Given the description of an element on the screen output the (x, y) to click on. 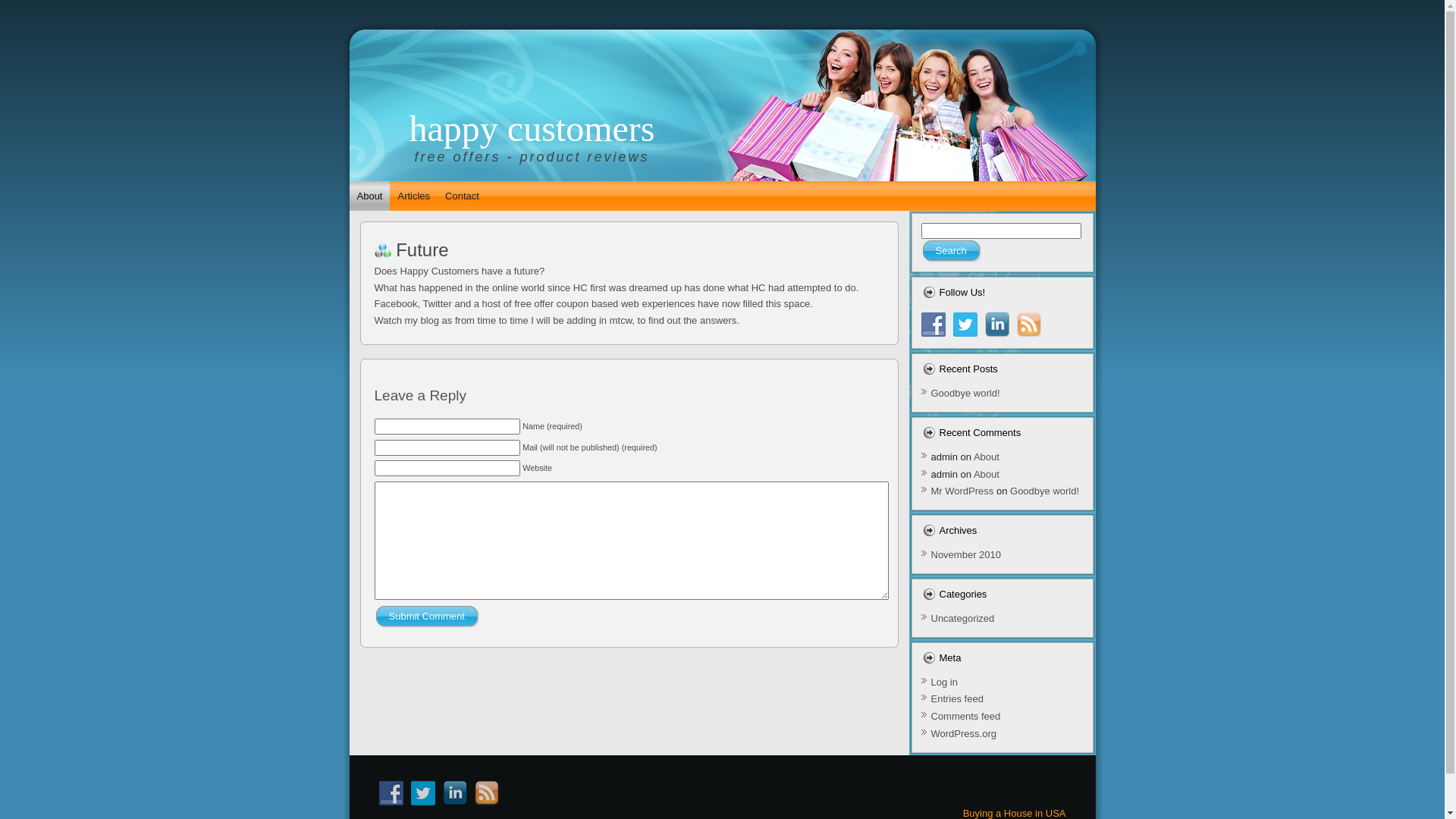
Follow Us on Facebook Element type: hover (932, 324)
Follow Us on LinkedIn Element type: hover (454, 793)
Goodbye world! Element type: text (965, 392)
Uncategorized Element type: text (962, 618)
Entries feed Element type: text (957, 698)
Follow Us on LinkedIn Element type: hover (996, 324)
Log in Element type: text (944, 681)
Future Element type: text (421, 249)
Contact Element type: text (461, 195)
About Element type: text (368, 195)
Goodbye world! Element type: text (1044, 490)
Buying a House in USA Element type: text (1014, 812)
Follow Us on Twitter Element type: hover (423, 793)
Follow Us on Twitter Element type: hover (964, 324)
About Element type: text (986, 474)
Comments feed Element type: text (966, 715)
Search Element type: text (950, 250)
November 2010 Element type: text (966, 554)
Articles Element type: text (413, 195)
Mr WordPress Element type: text (962, 490)
Follow Us on RSS Element type: hover (486, 793)
WordPress.org Element type: text (963, 733)
About Element type: text (986, 456)
Follow Us on RSS Element type: hover (1028, 324)
Follow Us on Facebook Element type: hover (391, 793)
Submit Comment Element type: text (426, 615)
happy customers Element type: text (532, 128)
